Given the description of an element on the screen output the (x, y) to click on. 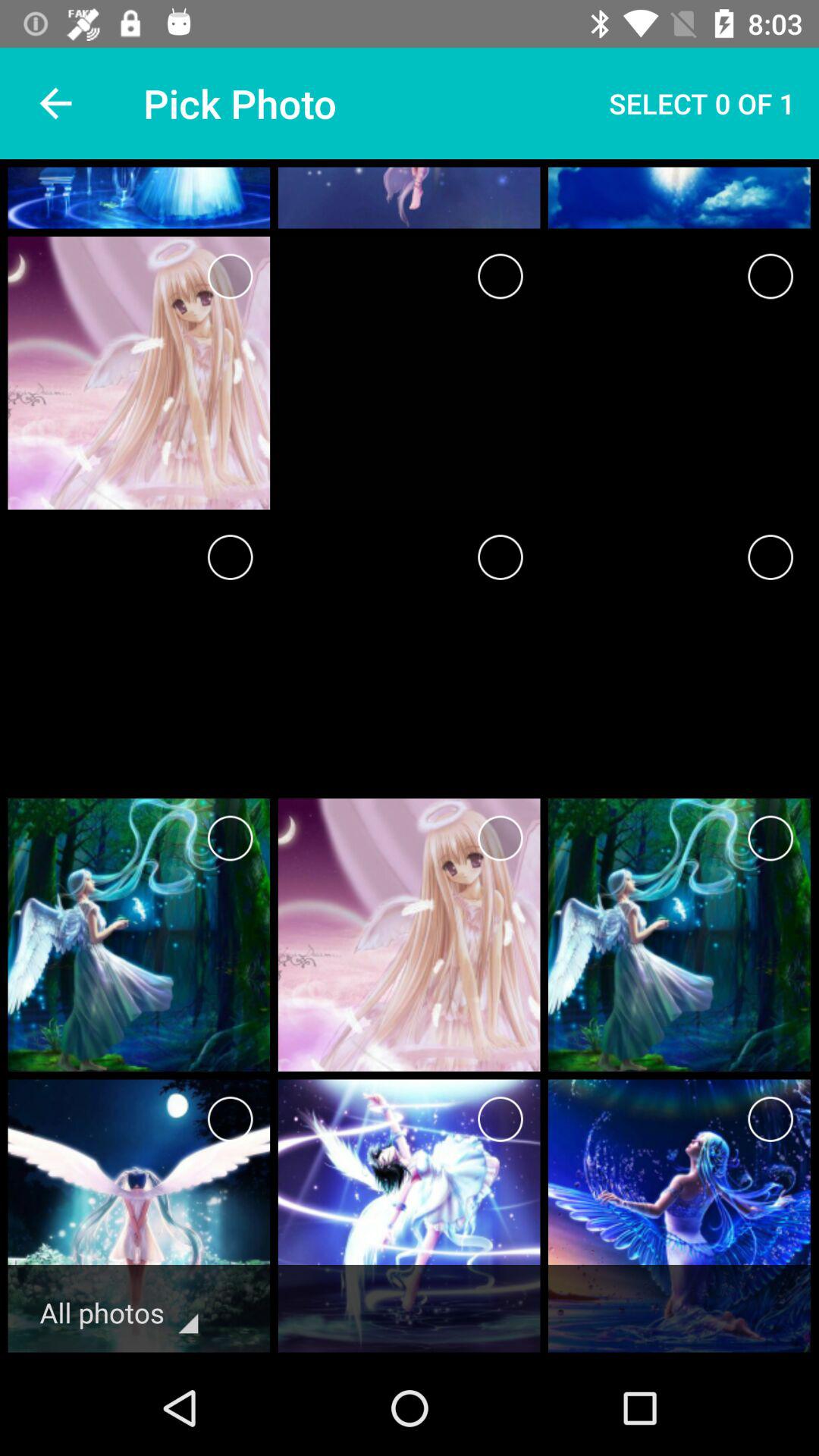
select button (770, 1119)
